Given the description of an element on the screen output the (x, y) to click on. 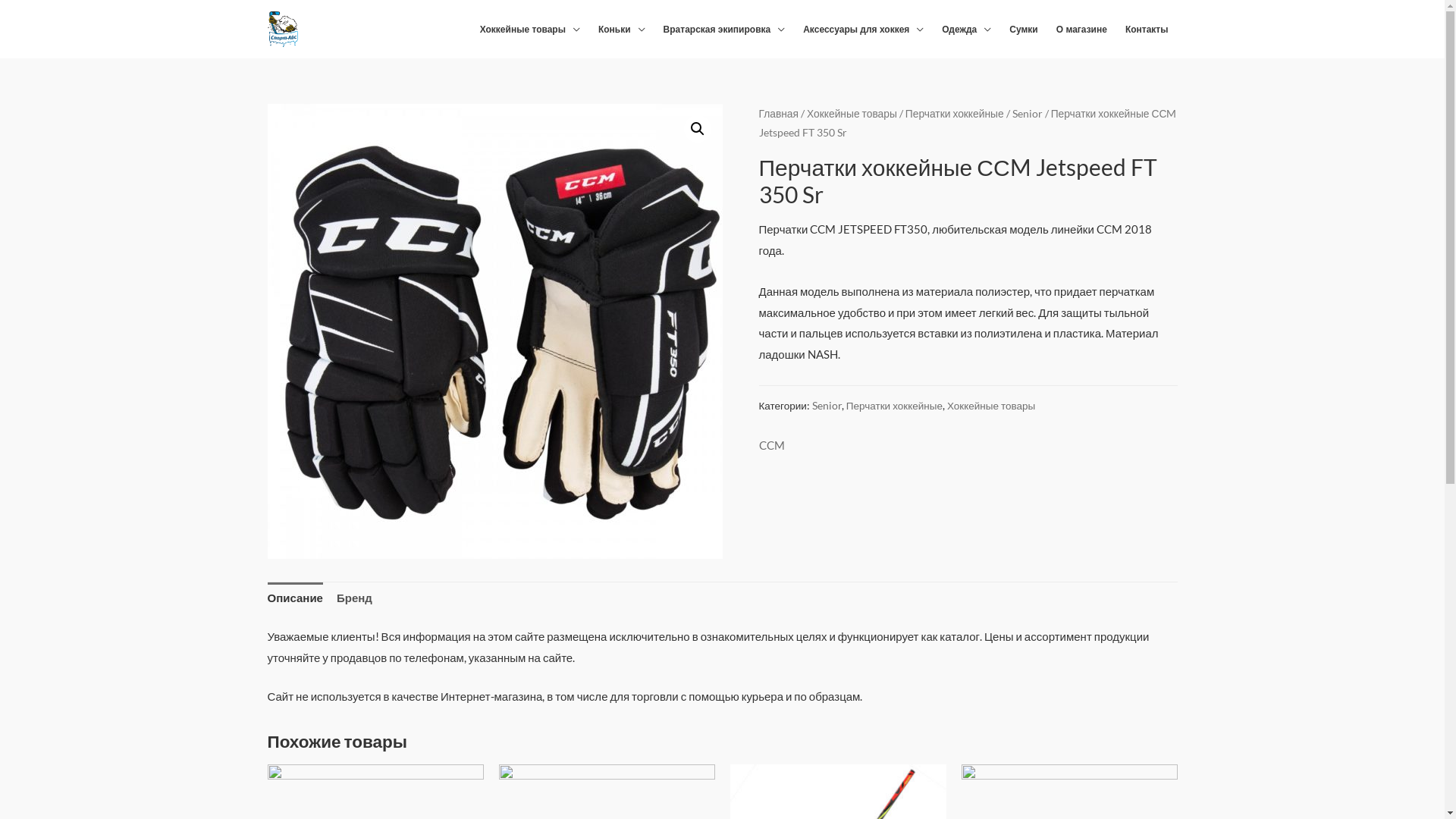
Senior Element type: text (1027, 112)
CCM Element type: text (771, 445)
Senior Element type: text (826, 405)
ft 350 Element type: hover (493, 330)
